Given the description of an element on the screen output the (x, y) to click on. 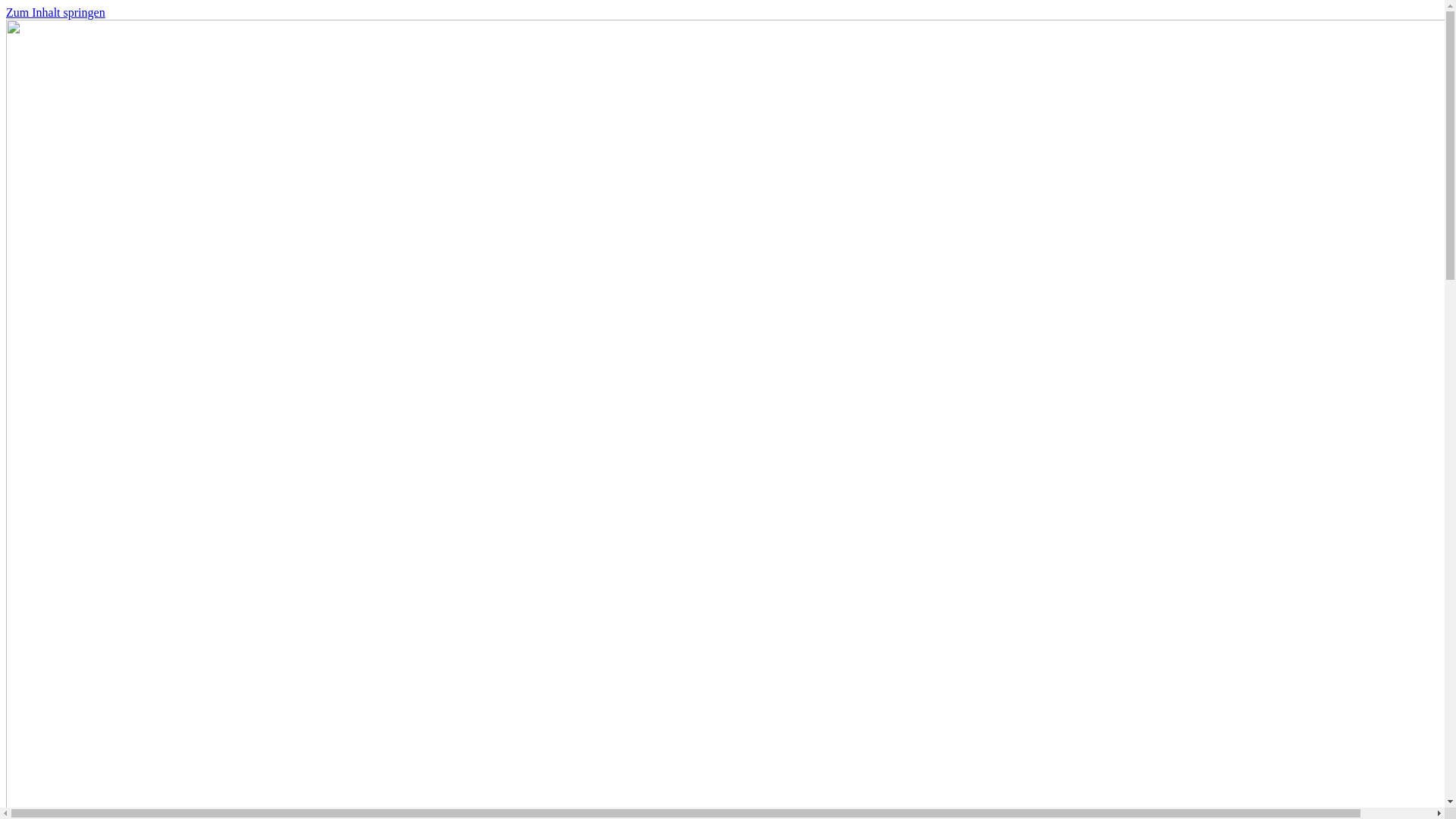
Zum Inhalt springen Element type: text (55, 12)
